Given the description of an element on the screen output the (x, y) to click on. 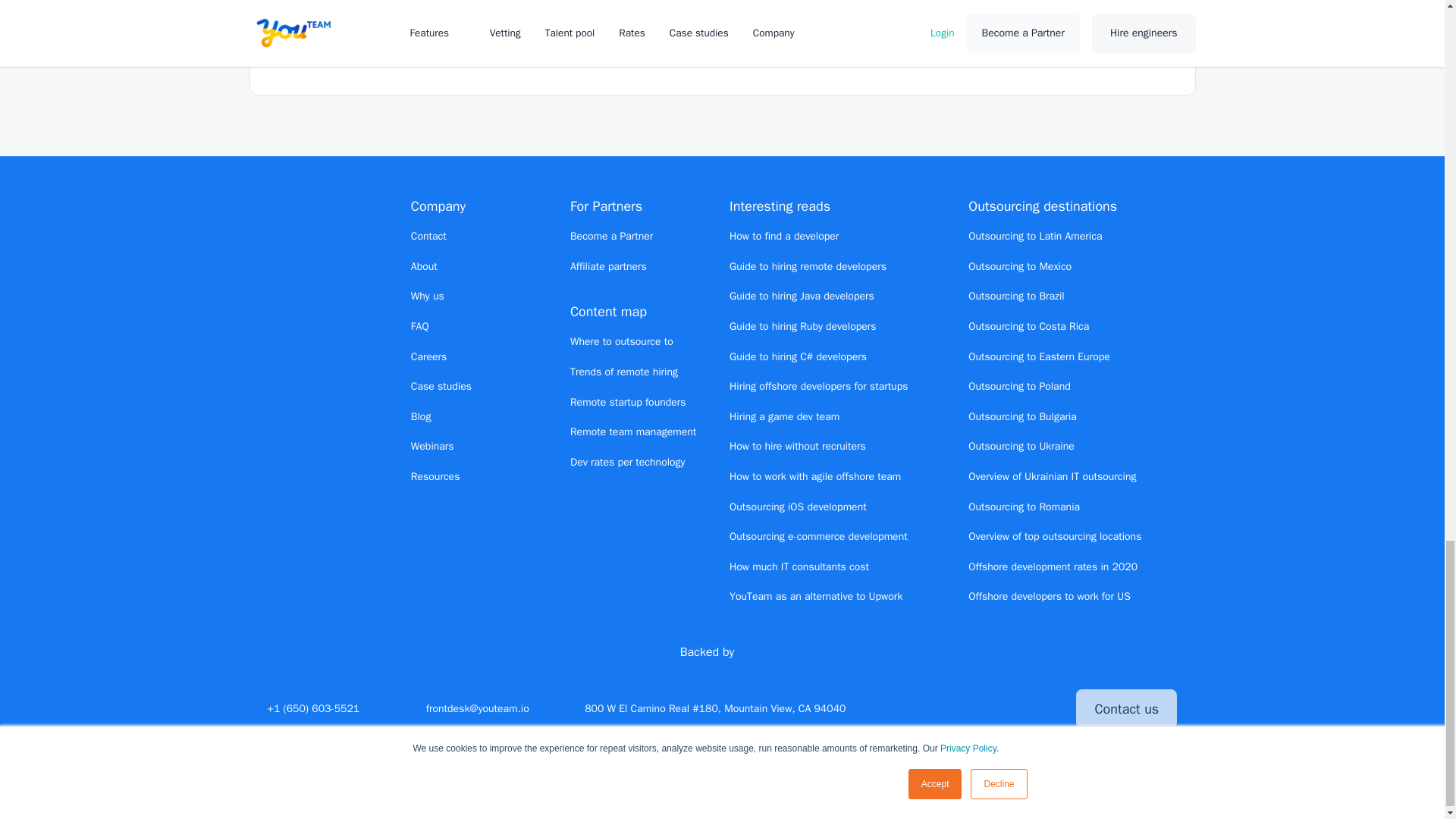
Trends of remote hiring (624, 371)
Privacy Policy (855, 792)
Dev rates per technology (627, 461)
Why us (427, 295)
Contact (428, 236)
Blog (420, 416)
Webinars (432, 445)
Twitter (937, 708)
Remote team management (632, 431)
Check if Salvador is available (993, 11)
Careers (428, 356)
Become a Partner (611, 236)
Where to outsource to (621, 341)
Case studies (440, 386)
About (424, 266)
